Given the description of an element on the screen output the (x, y) to click on. 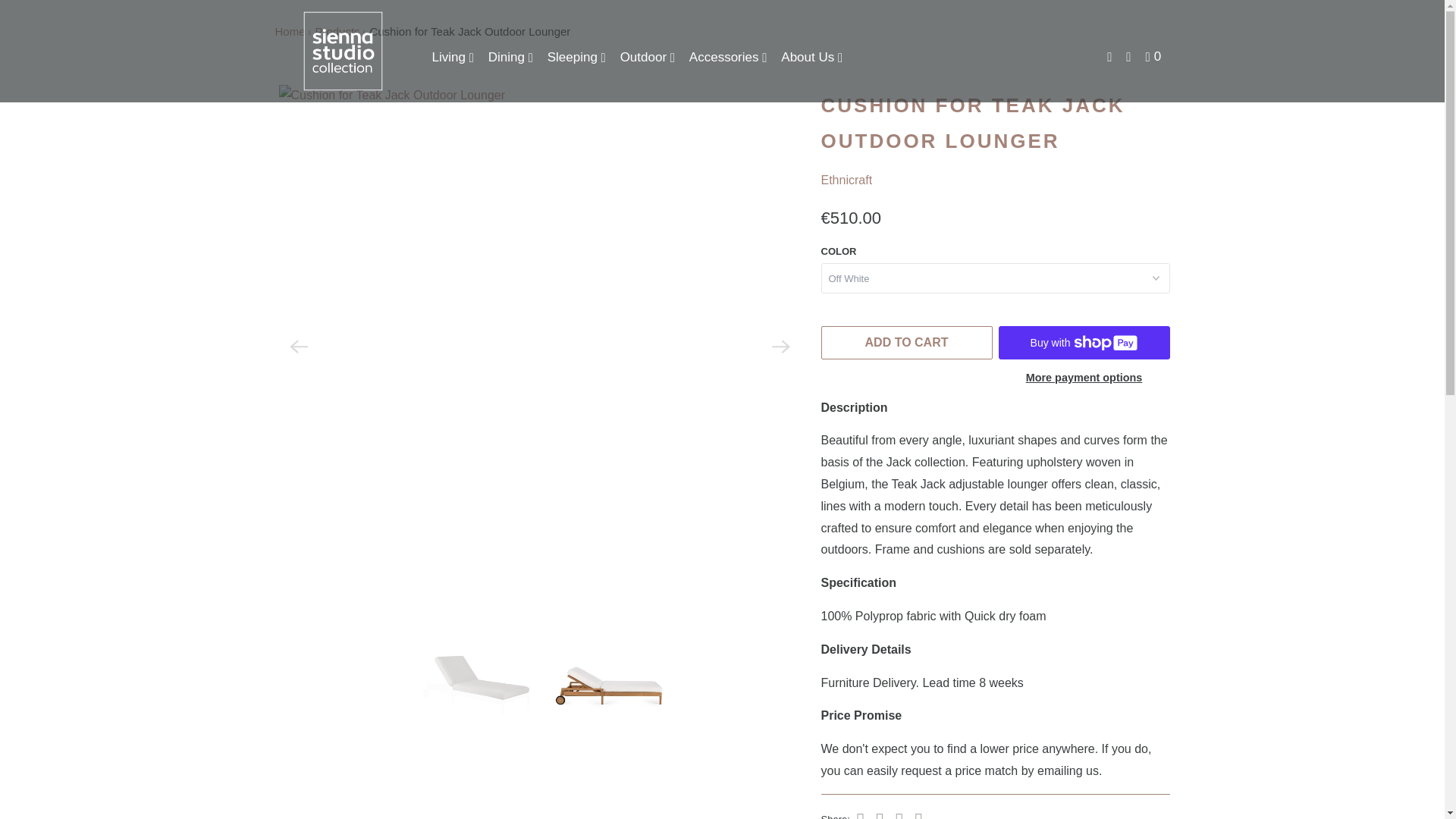
Ethnicraft (846, 179)
Email this to a friend (917, 813)
Products (336, 31)
Sienna Studio Collection (289, 31)
Share this on Twitter (857, 813)
Share this on Pinterest (897, 813)
Share this on Facebook (877, 813)
Sienna Studio Collection (342, 51)
